Given the description of an element on the screen output the (x, y) to click on. 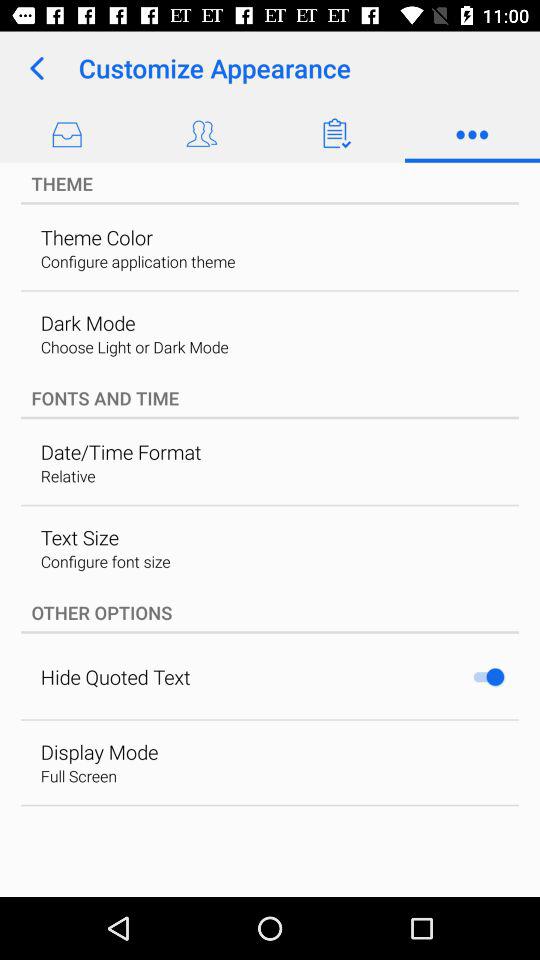
tap item above the date/time format app (270, 398)
